Given the description of an element on the screen output the (x, y) to click on. 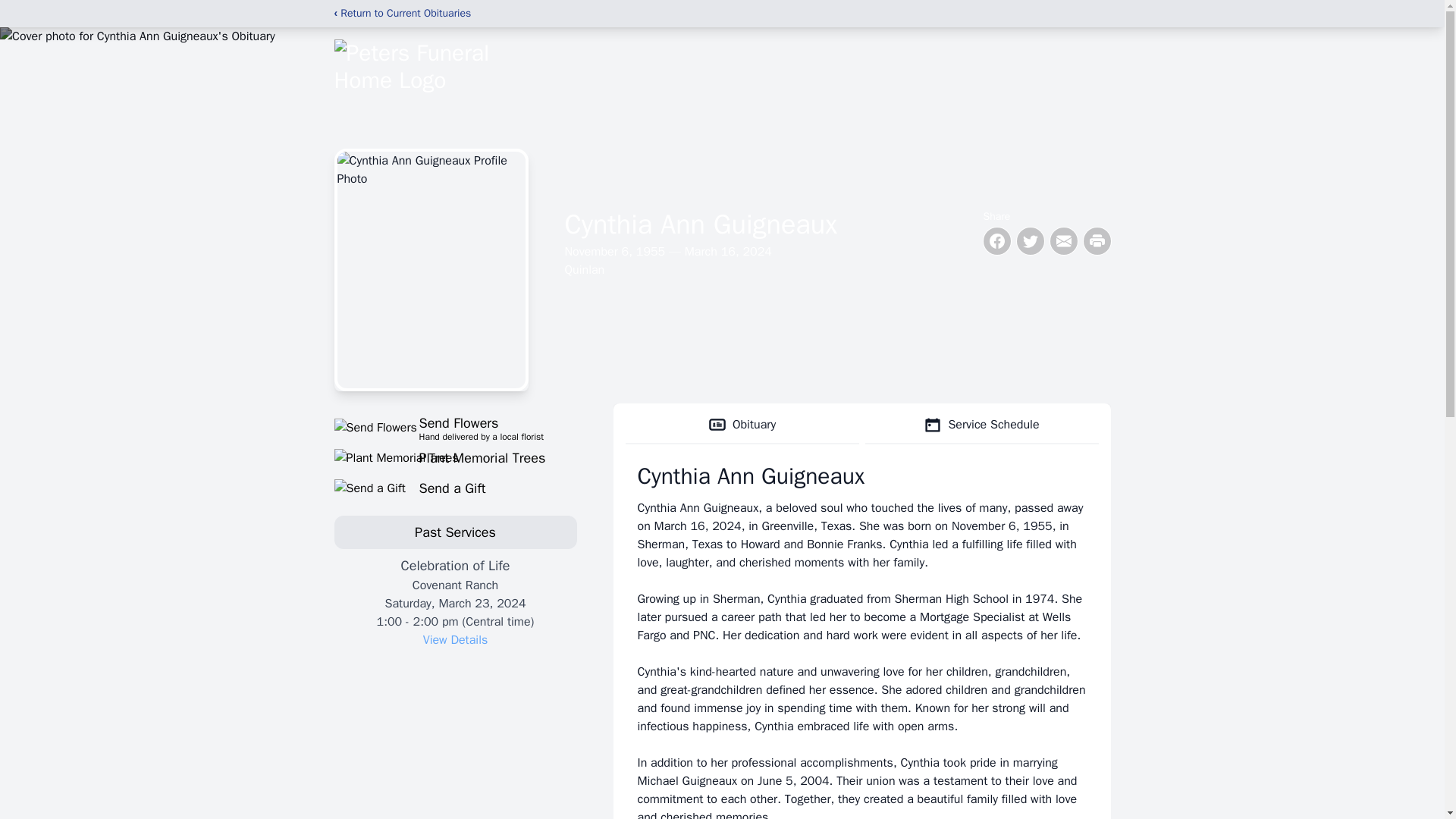
Plant Memorial Trees (454, 457)
Obituary (454, 427)
View Details (741, 425)
Send a Gift (455, 639)
Service Schedule (454, 488)
